Given the description of an element on the screen output the (x, y) to click on. 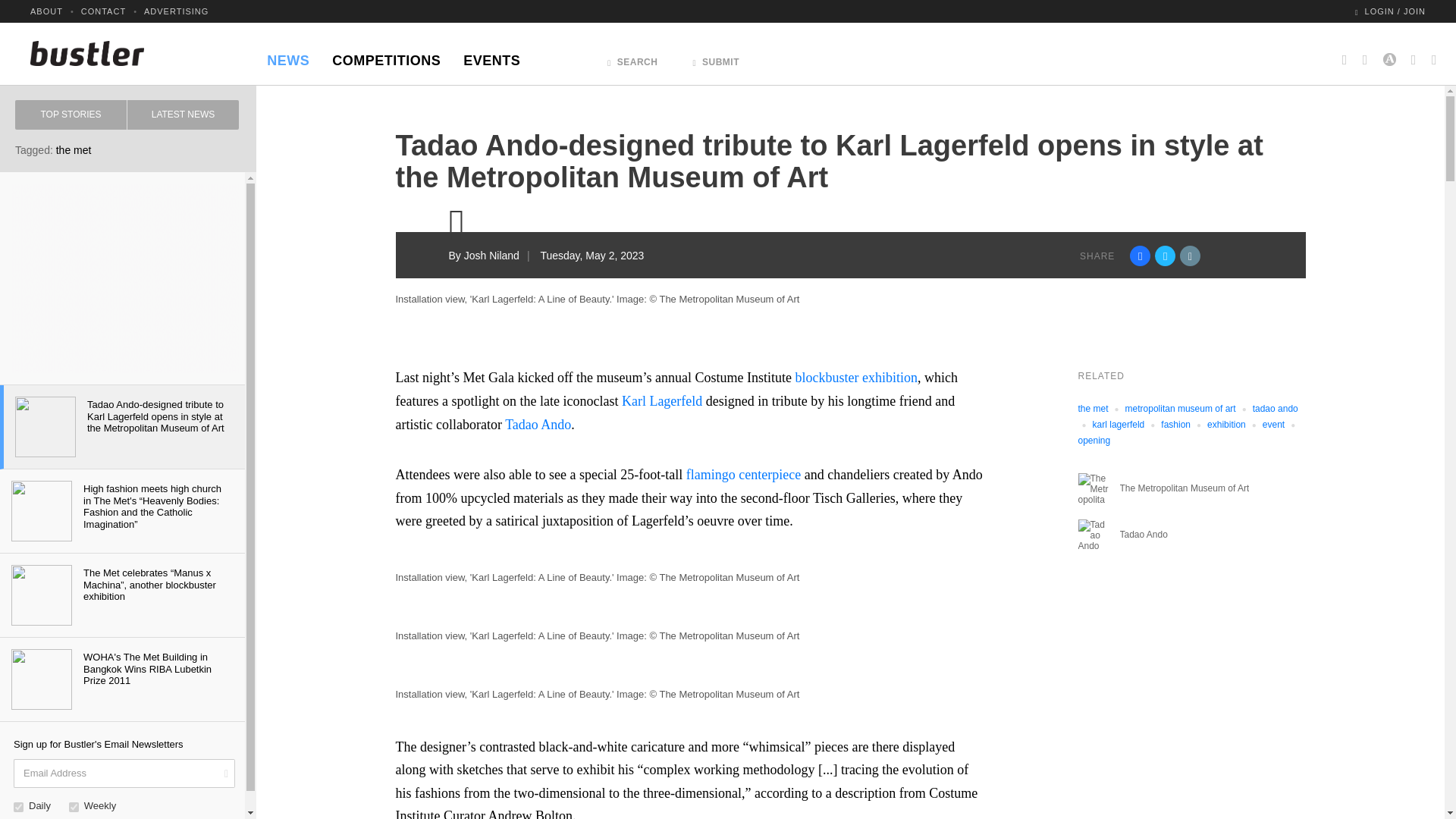
ADVERTISING (176, 10)
ABOUT (46, 10)
Bustler is powered by Archinect (1389, 53)
COMPETITIONS (385, 56)
SEARCH (632, 57)
SUBMIT (715, 57)
NEWS (288, 56)
CONTACT (103, 10)
EVENTS (491, 56)
